Given the description of an element on the screen output the (x, y) to click on. 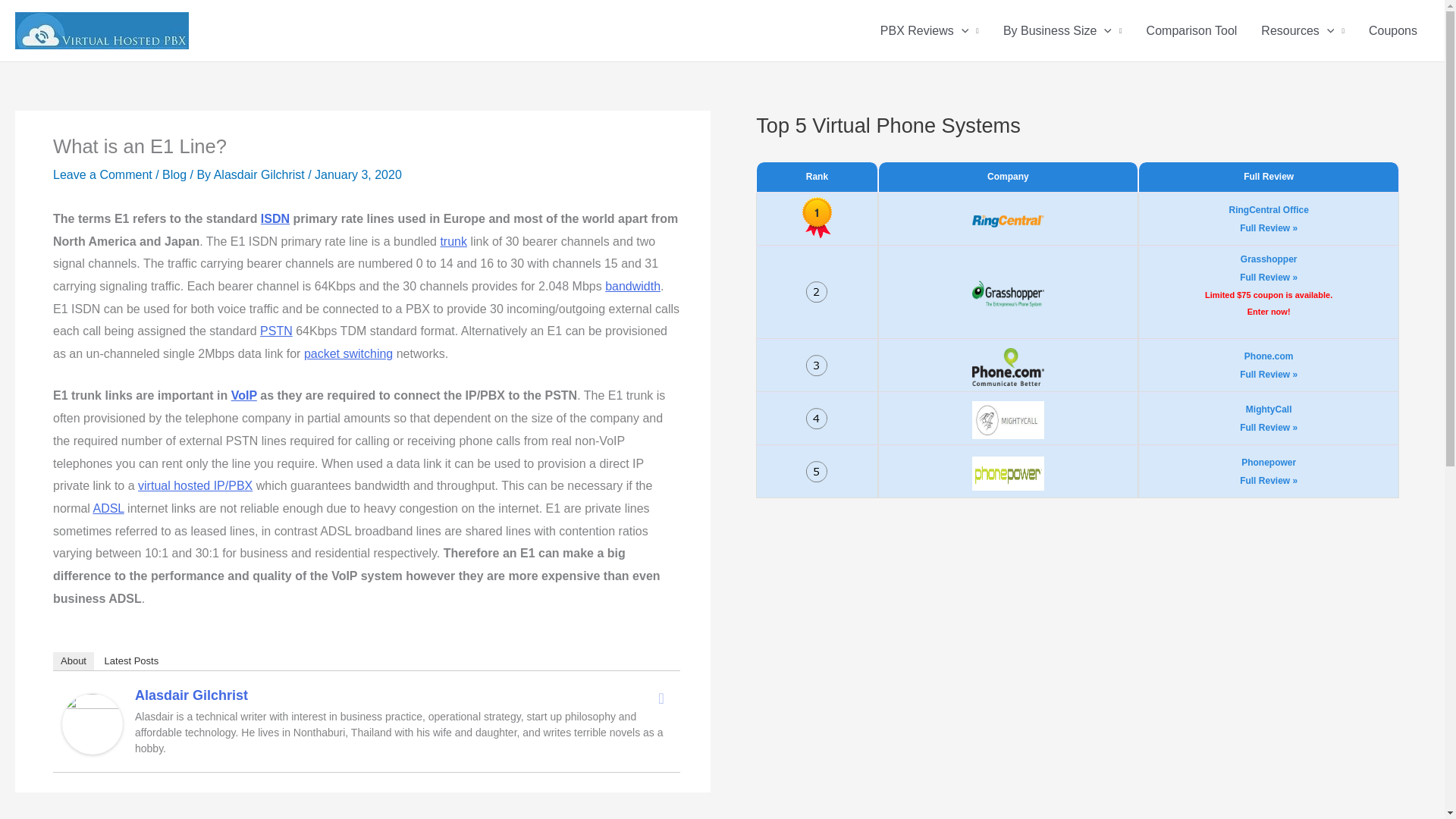
About (73, 660)
Alasdair Gilchrist (260, 174)
Coupons (1392, 30)
LinkedIn (660, 698)
Virtual Hosted PBX Reviews (194, 485)
View all posts by Alasdair Gilchrist (260, 174)
Leave a Comment (102, 174)
PBX Reviews (929, 30)
Resources (1302, 30)
Comparison Tool (1191, 30)
